Given the description of an element on the screen output the (x, y) to click on. 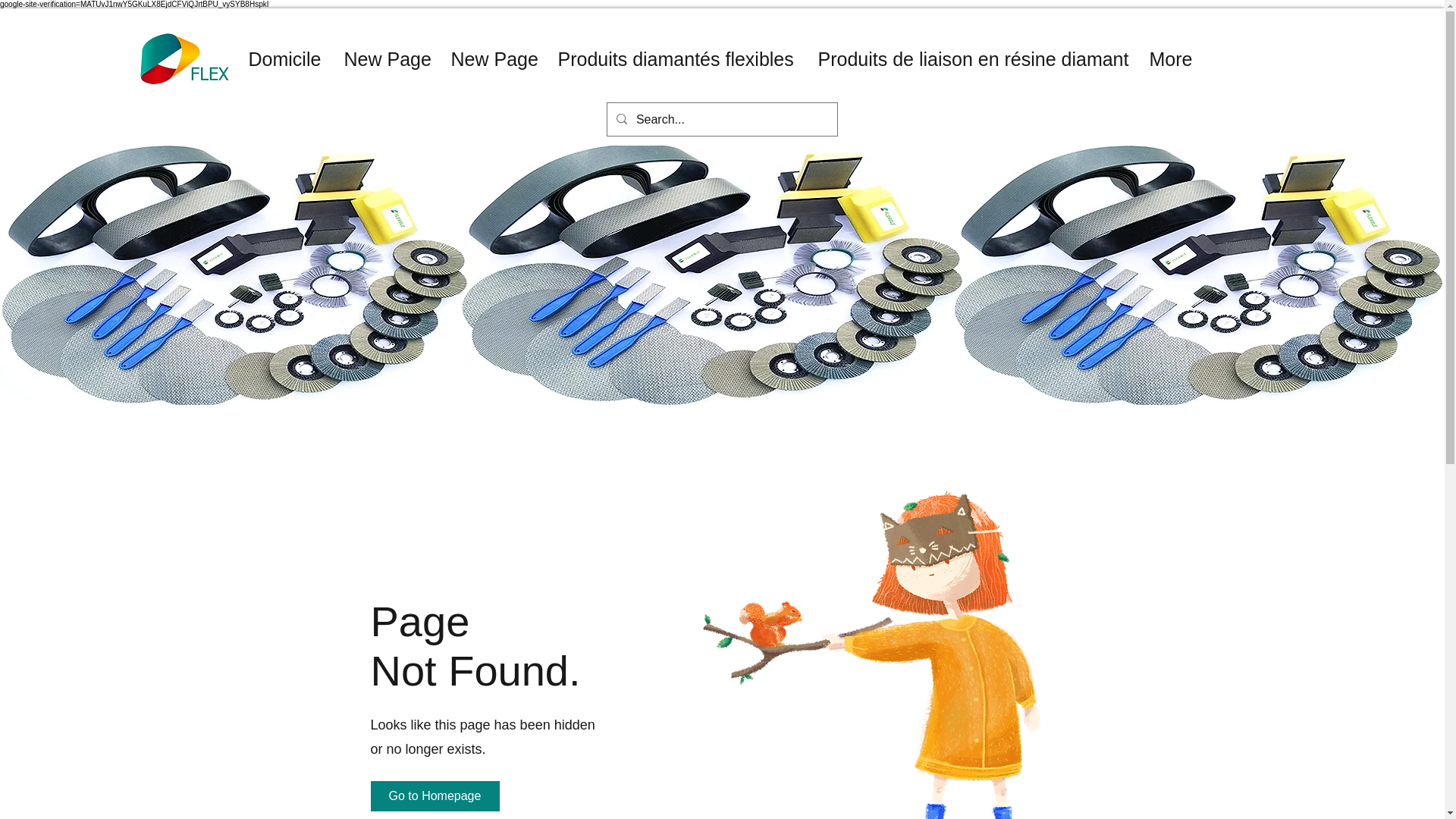
New Page (385, 58)
Domicile (283, 58)
New Page (493, 58)
